Given the description of an element on the screen output the (x, y) to click on. 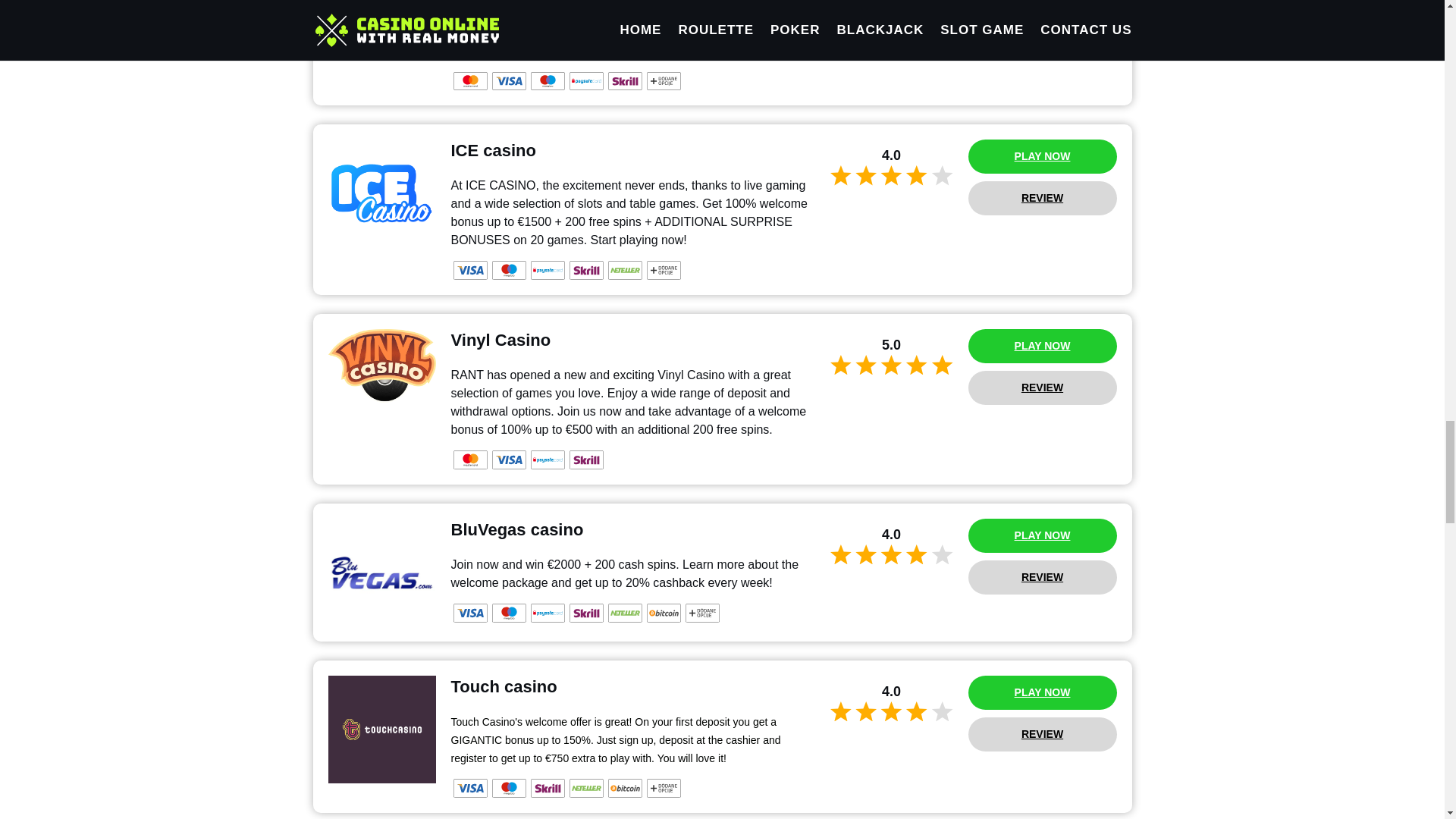
REVIEW (1042, 734)
PLAY NOW (1042, 346)
PLAY NOW (1042, 535)
REVIEW (1042, 387)
REVIEW (1042, 197)
REVIEW (1042, 577)
PLAY NOW (1042, 692)
PLAY NOW (1042, 156)
